Given the description of an element on the screen output the (x, y) to click on. 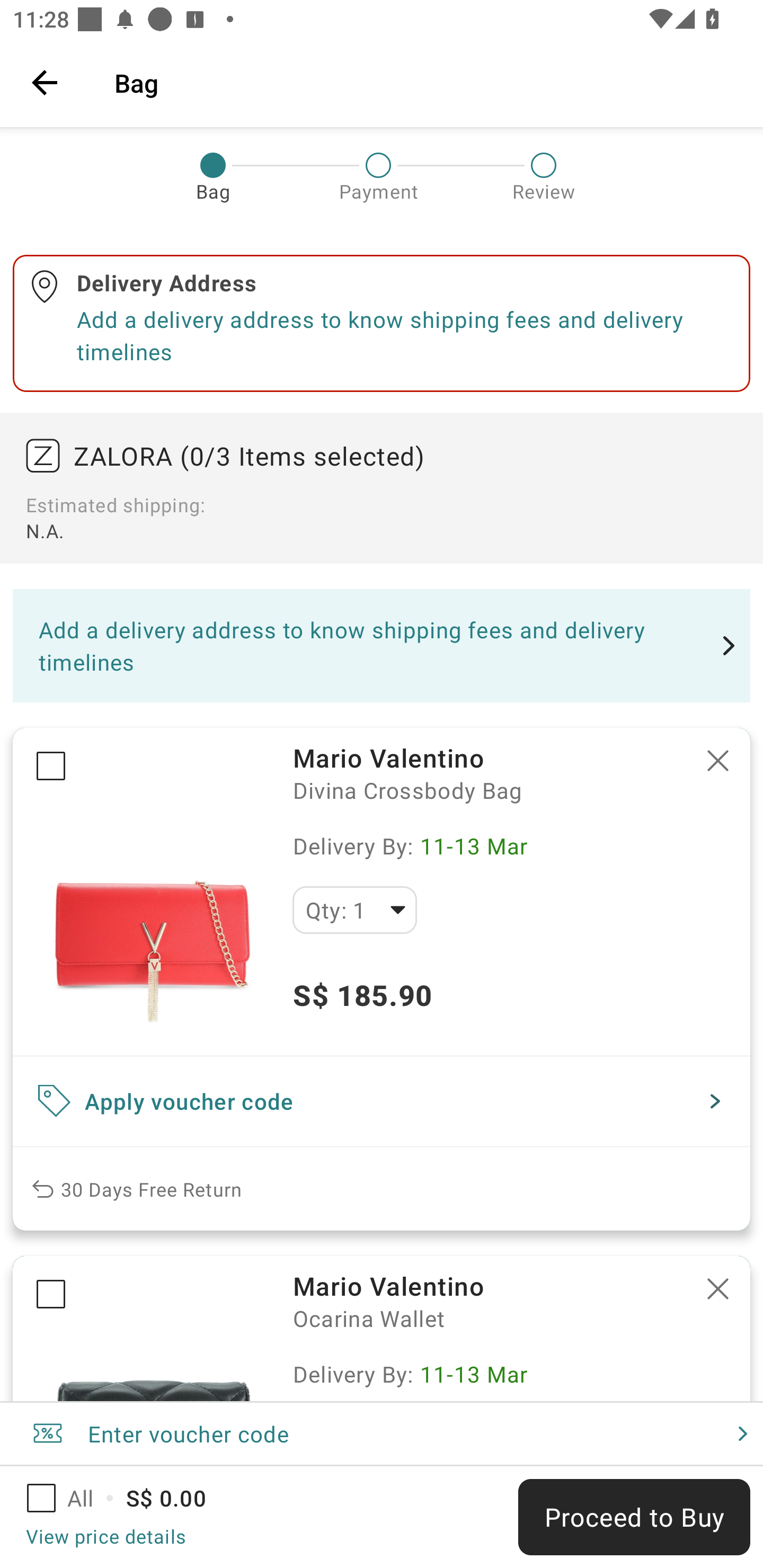
Navigate up (44, 82)
Bag (426, 82)
Qty: 1 (354, 909)
Apply voucher code (381, 1101)
Enter voucher code (381, 1433)
All (72, 1497)
Proceed to Buy (634, 1516)
View price details (105, 1535)
